Given the description of an element on the screen output the (x, y) to click on. 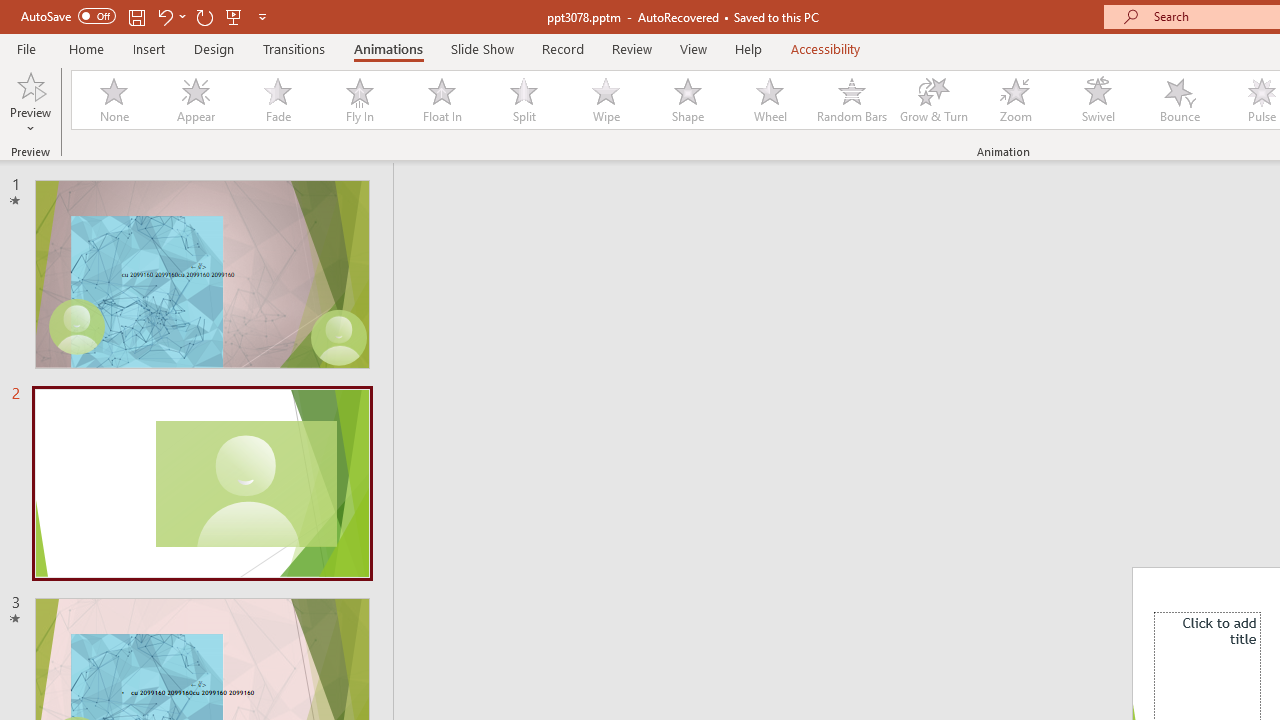
Split (523, 100)
Wheel (770, 100)
Fly In (359, 100)
Swivel (1098, 100)
